Given the description of an element on the screen output the (x, y) to click on. 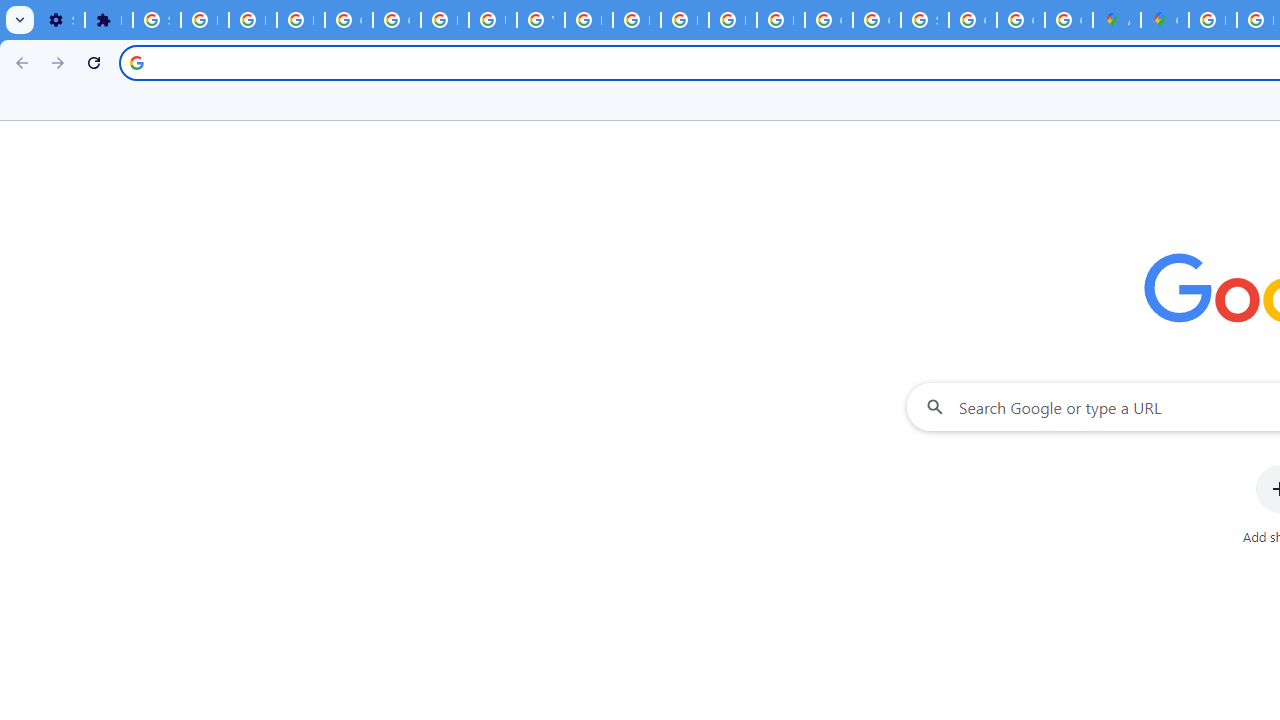
Google Maps (1164, 20)
YouTube (540, 20)
Extensions (108, 20)
Policy Accountability and Transparency - Transparency Center (1212, 20)
Google Account Help (396, 20)
Search icon (136, 62)
Google Account Help (348, 20)
